Given the description of an element on the screen output the (x, y) to click on. 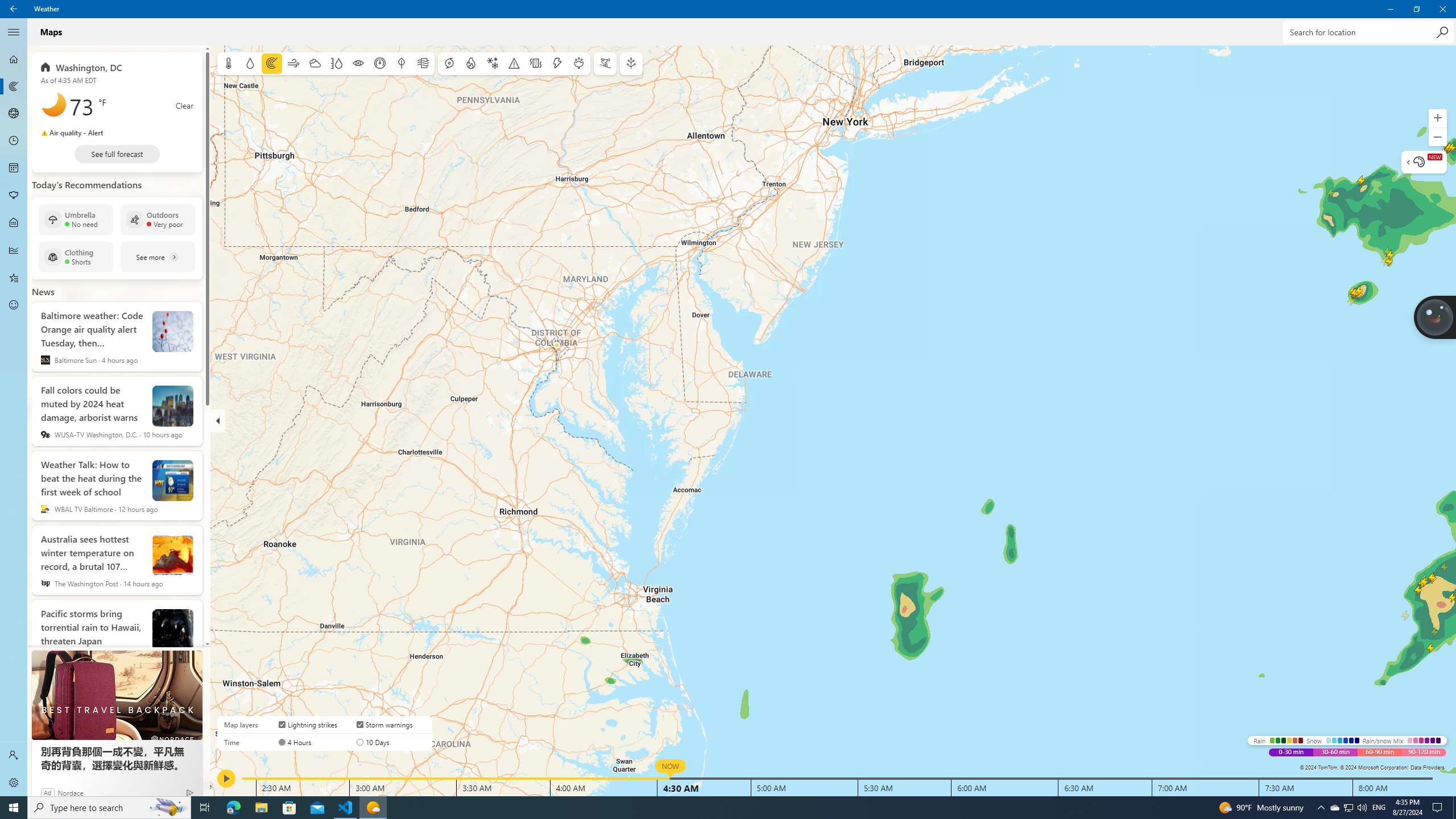
File Explorer (1347, 807)
Minimize Weather (261, 807)
Running applications (1390, 9)
Tray Input Indicator - English (United States) (706, 807)
Close Weather (1378, 807)
Sign in (1442, 9)
Notification Chevron (13, 755)
Back (1320, 807)
Maps - Not Selected (13, 9)
Restore Weather (13, 85)
3D Maps - Not Selected (1416, 9)
Visual Studio Code - 1 running window (13, 113)
